Given the description of an element on the screen output the (x, y) to click on. 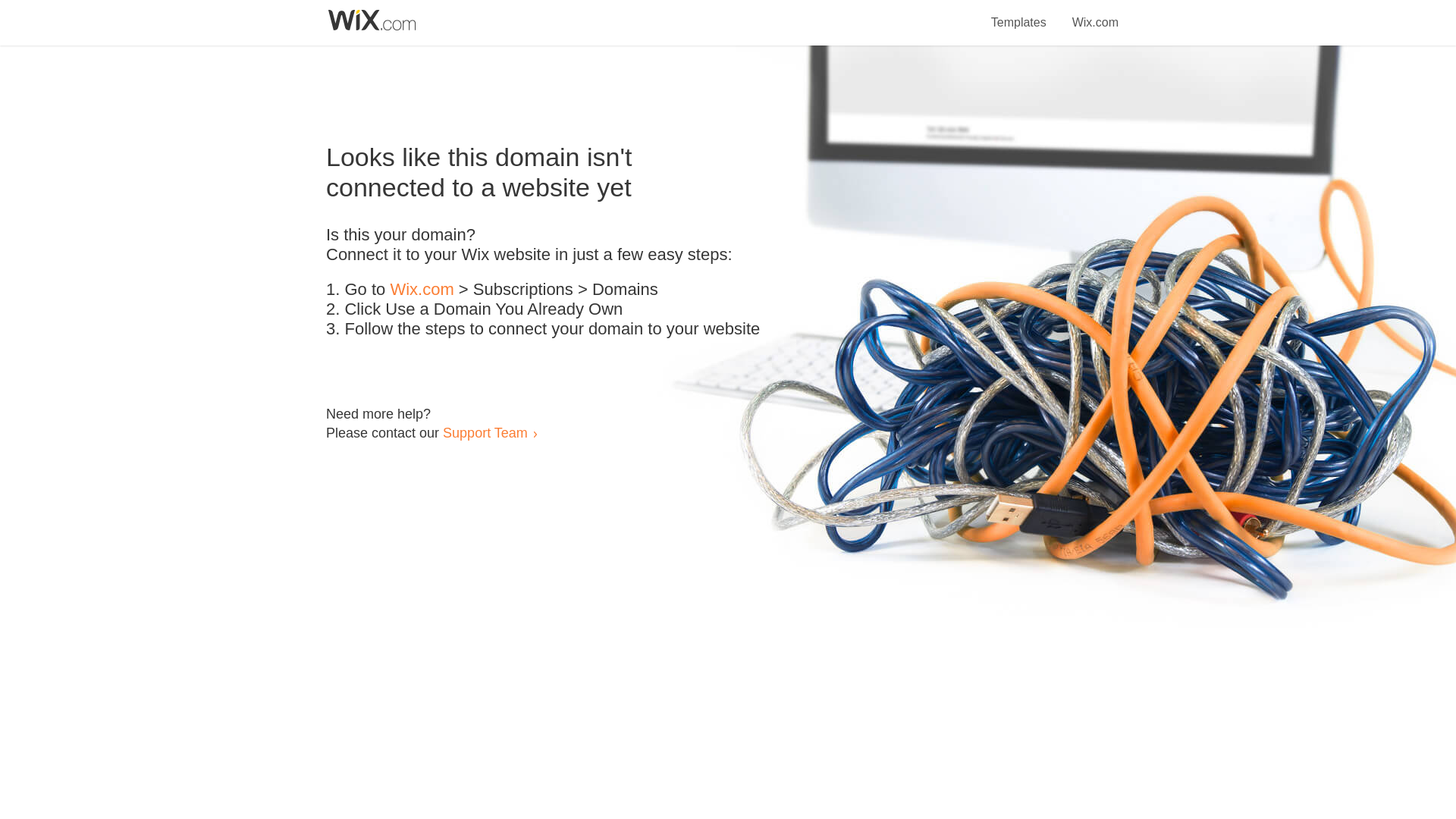
Templates (1018, 14)
Wix.com (421, 289)
Wix.com (1095, 14)
Support Team (484, 432)
